Given the description of an element on the screen output the (x, y) to click on. 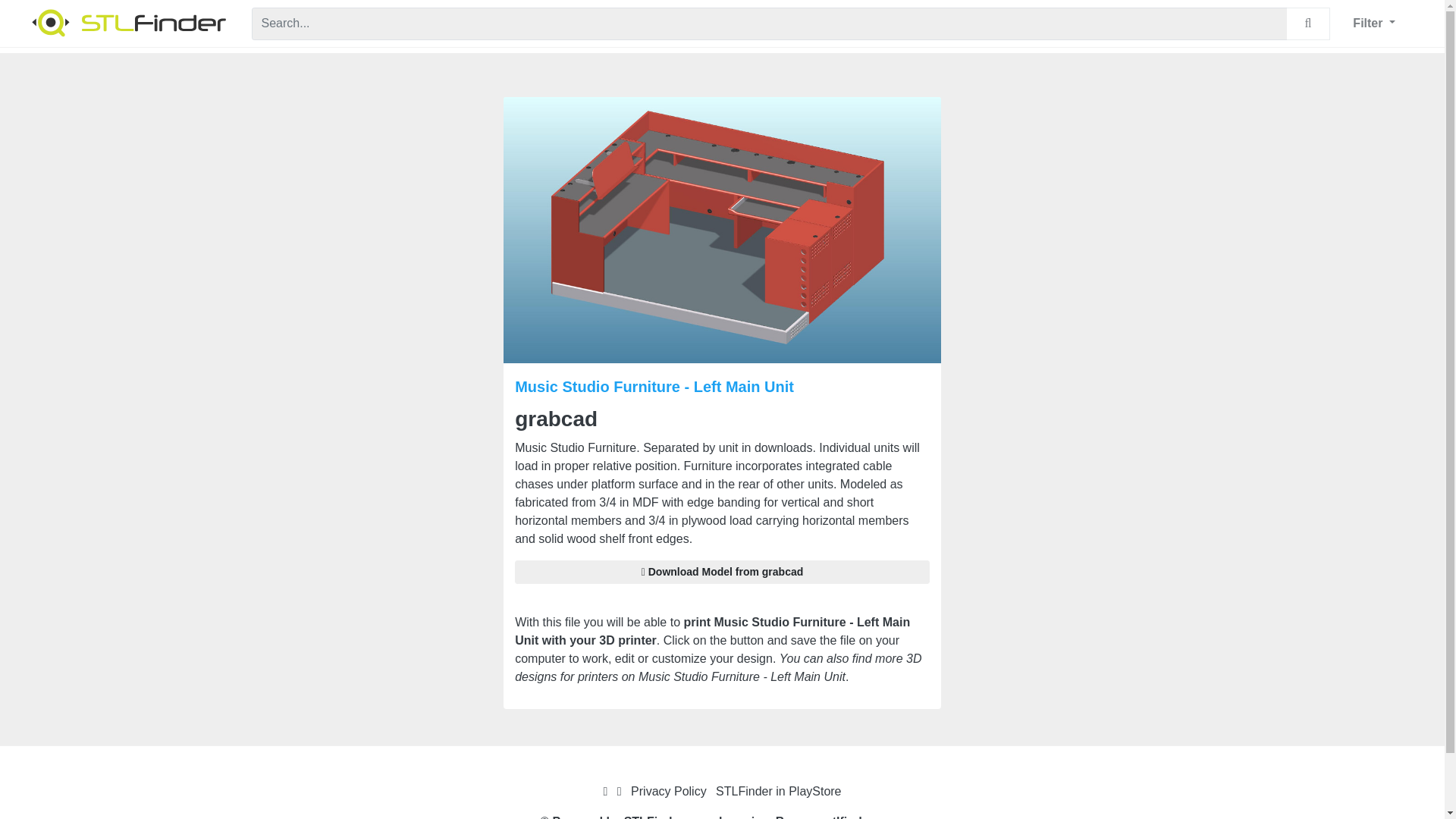
STLFinder in PlayStore (778, 790)
Download Model from grabcad (722, 571)
Filter (1373, 23)
www.stlfinder.com (847, 816)
Privacy Policy (668, 790)
